Given the description of an element on the screen output the (x, y) to click on. 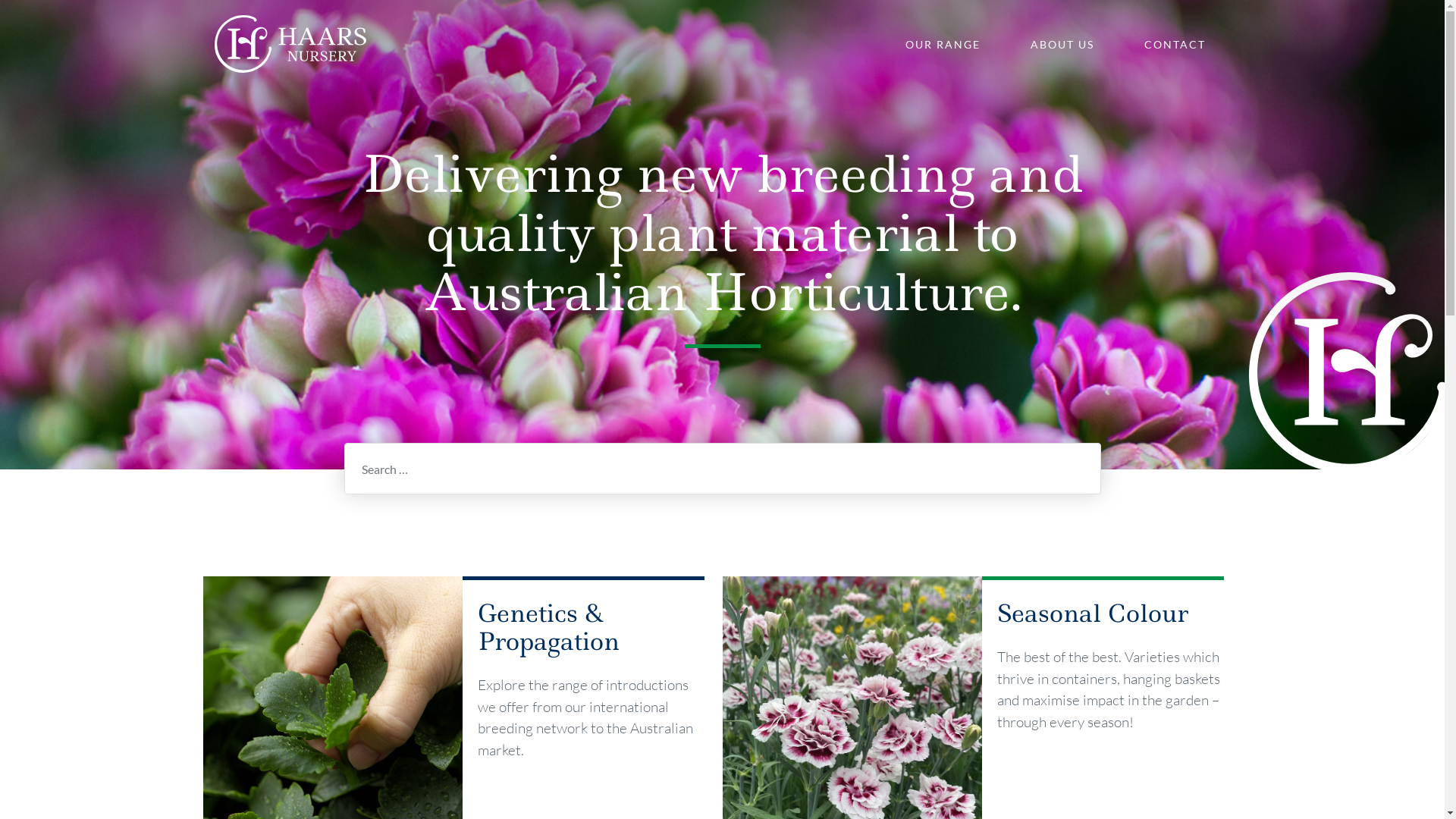
ABOUT US Element type: text (1061, 44)
CONTACT Element type: text (1174, 44)
OUR RANGE Element type: text (942, 44)
